Given the description of an element on the screen output the (x, y) to click on. 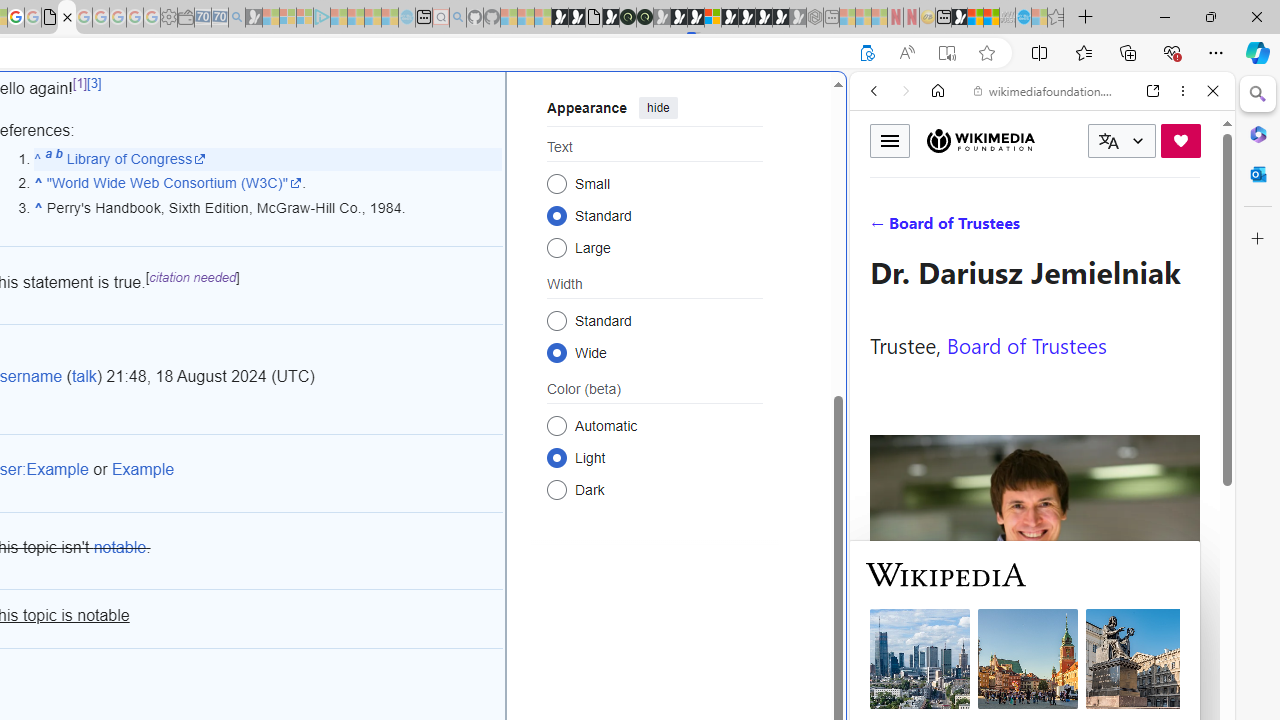
Board of Trustees (1026, 344)
Automatic (556, 425)
^ "World Wide Web Consortium (W3C)". (267, 183)
"World Wide Web Consortium (W3C)" (174, 183)
Jump up to: a (48, 158)
